Given the description of an element on the screen output the (x, y) to click on. 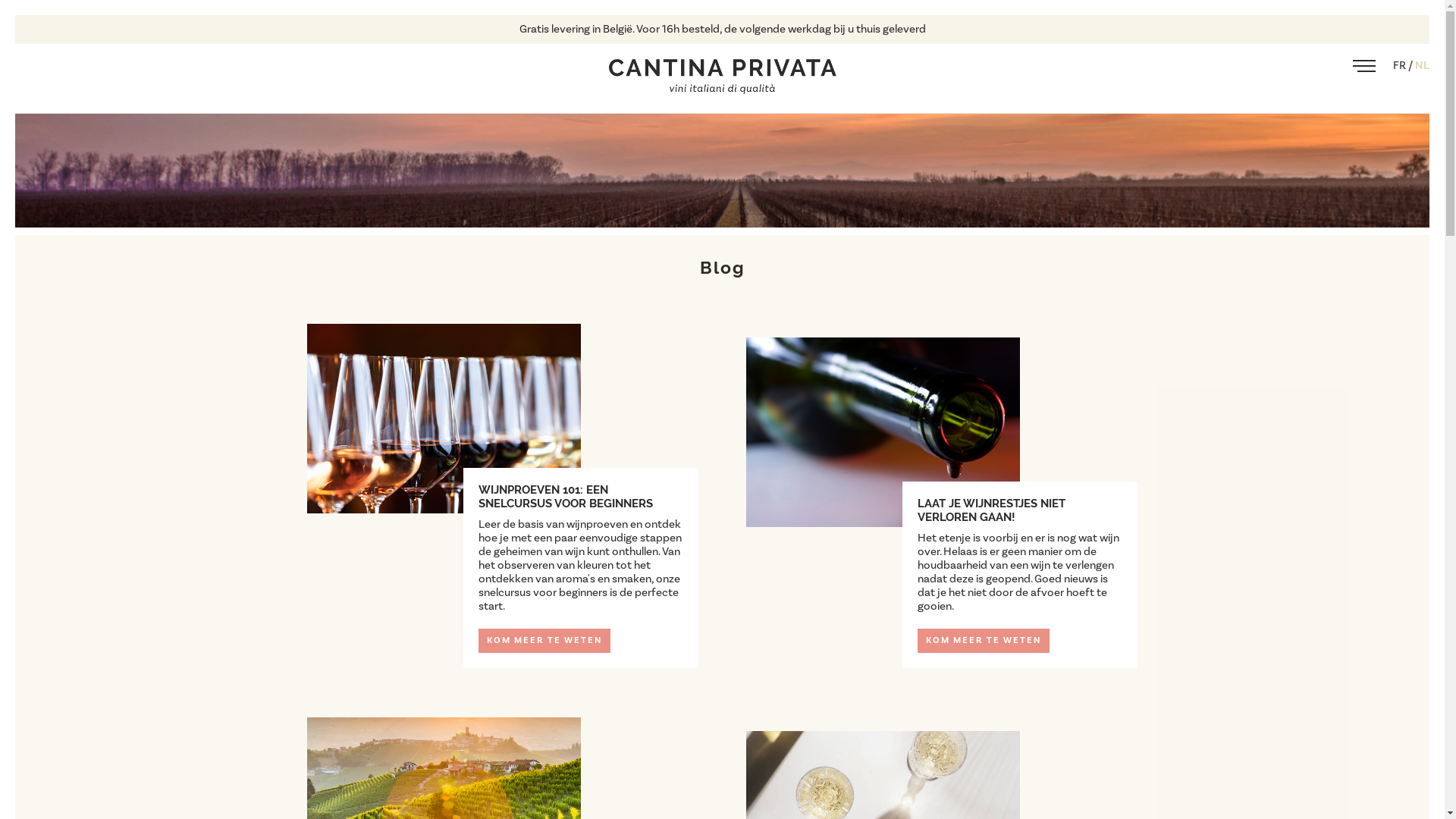
KOM MEER TE WETEN Element type: text (983, 640)
KOM MEER TE WETEN Element type: text (544, 640)
FR Element type: text (1400, 65)
NL Element type: text (1422, 65)
